Given the description of an element on the screen output the (x, y) to click on. 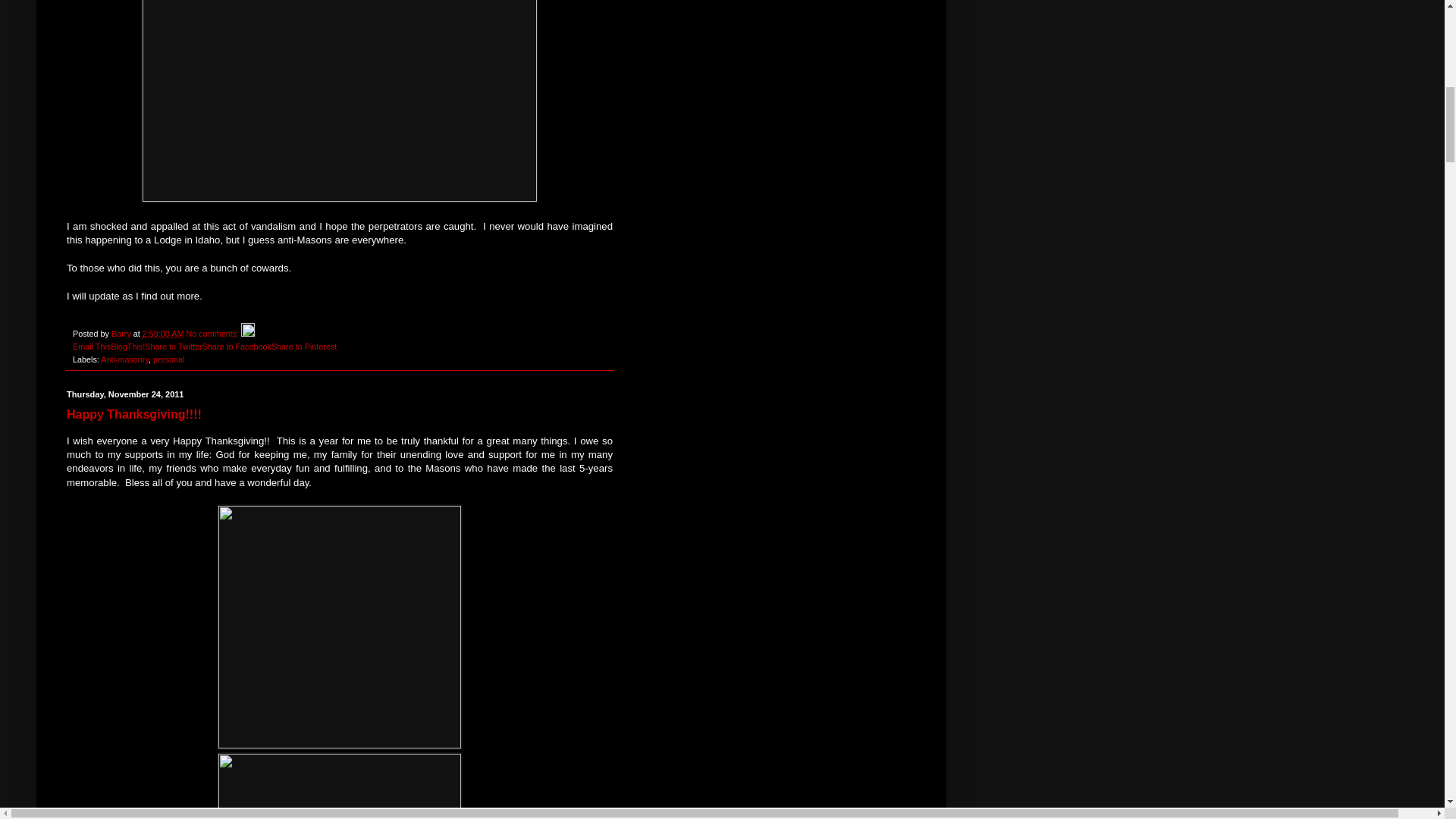
Share to Twitter (173, 346)
personal (168, 358)
BlogThis! (127, 346)
Share to Facebook (236, 346)
No comments: (213, 333)
Share to Facebook (236, 346)
BlogThis! (127, 346)
Share to Twitter (173, 346)
Edit Post (247, 333)
permanent link (163, 333)
Barry (122, 333)
Anti-masonry (124, 358)
Email This (91, 346)
author profile (122, 333)
Email This (91, 346)
